Given the description of an element on the screen output the (x, y) to click on. 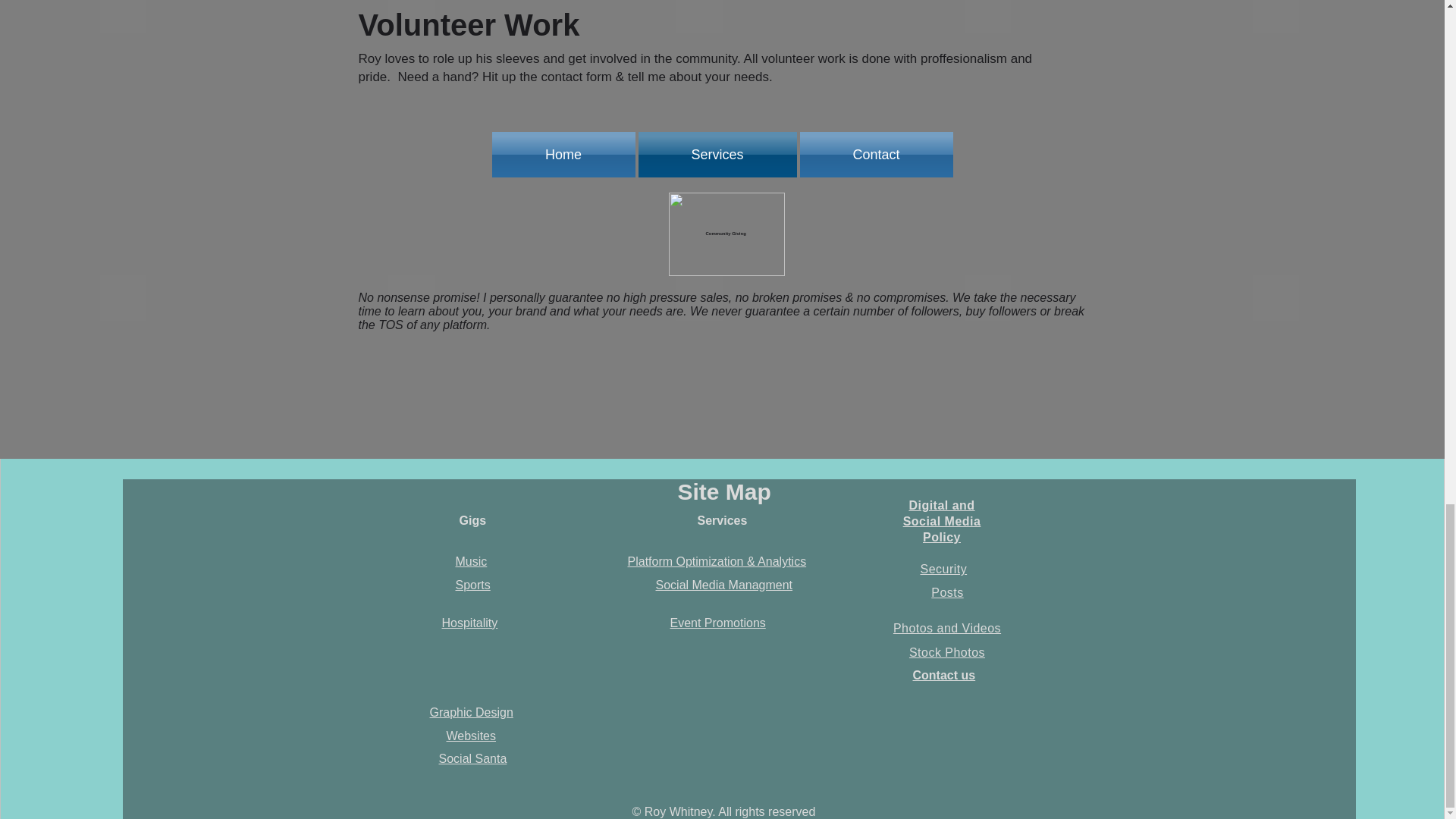
Home (564, 154)
Social Media Managment (723, 584)
Social Santa (472, 758)
Stock Photos (946, 652)
Contact (874, 154)
Digital and Social Media Policy (941, 520)
Graphic Design (470, 712)
Services (717, 154)
Websites (470, 735)
Contact us (943, 675)
Music (470, 561)
Photos and Videos (947, 627)
Sports (471, 584)
Security (944, 568)
Posts (946, 592)
